Given the description of an element on the screen output the (x, y) to click on. 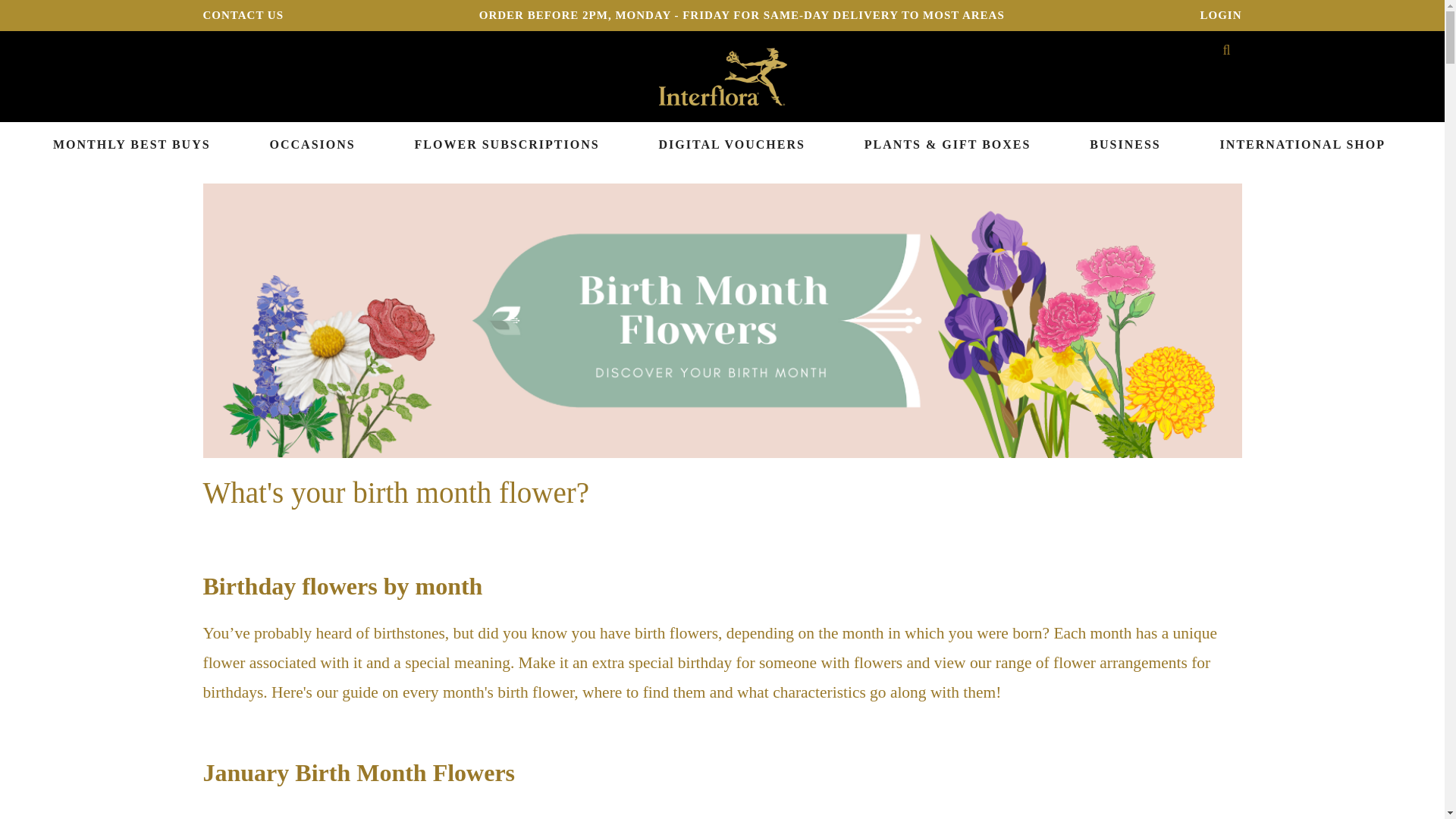
BUSINESS (1124, 144)
flower arrangements for birthdays (707, 677)
DIGITAL VOUCHERS (731, 144)
OCCASIONS (312, 144)
LOGIN (1220, 15)
MONTHLY BEST BUYS (131, 144)
CONTACT US (243, 15)
INTERNATIONAL SHOP (1302, 144)
FLOWER SUBSCRIPTIONS (507, 144)
